Given the description of an element on the screen output the (x, y) to click on. 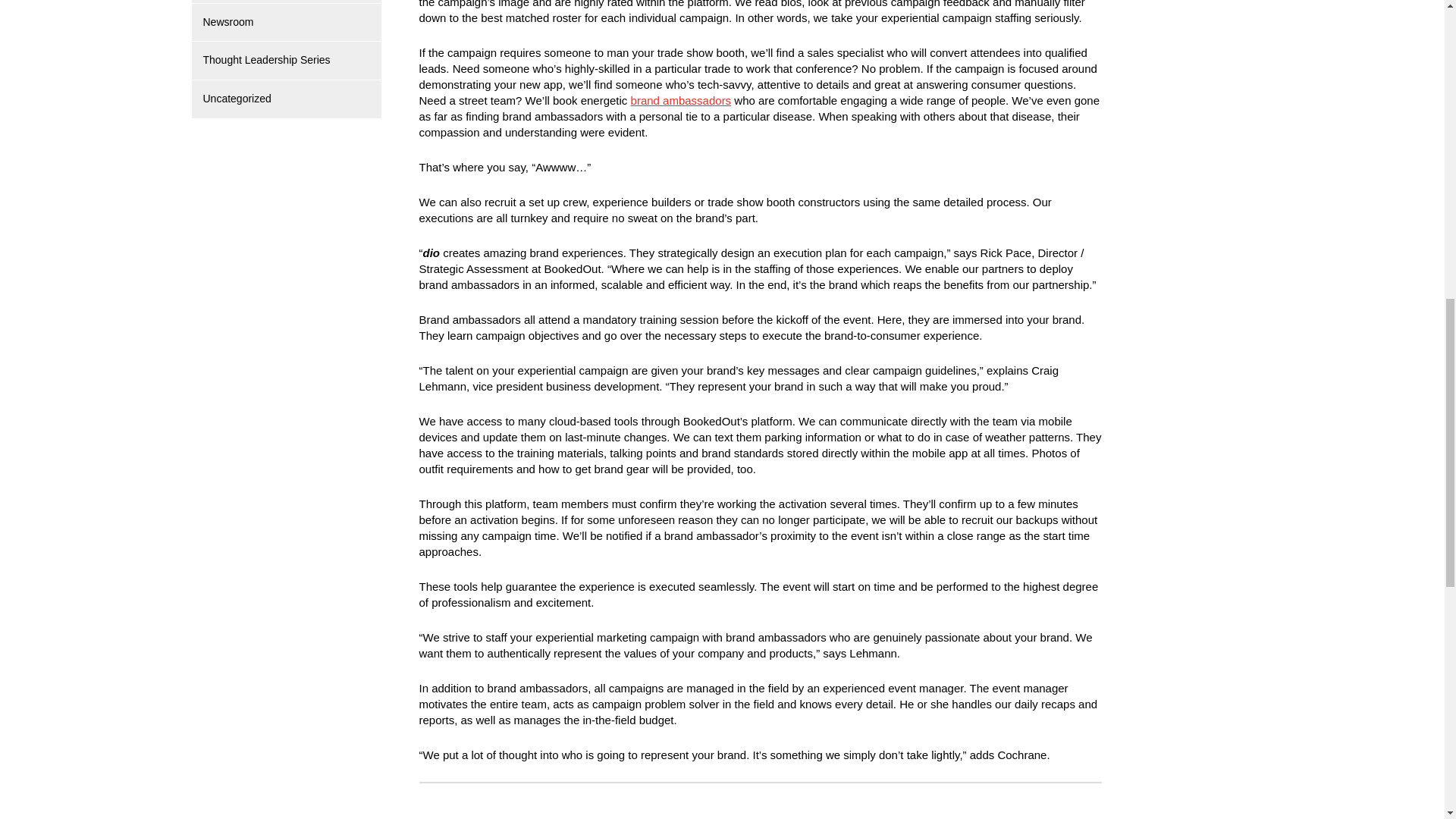
brand ambassadors (681, 100)
Newsroom (228, 21)
